Given the description of an element on the screen output the (x, y) to click on. 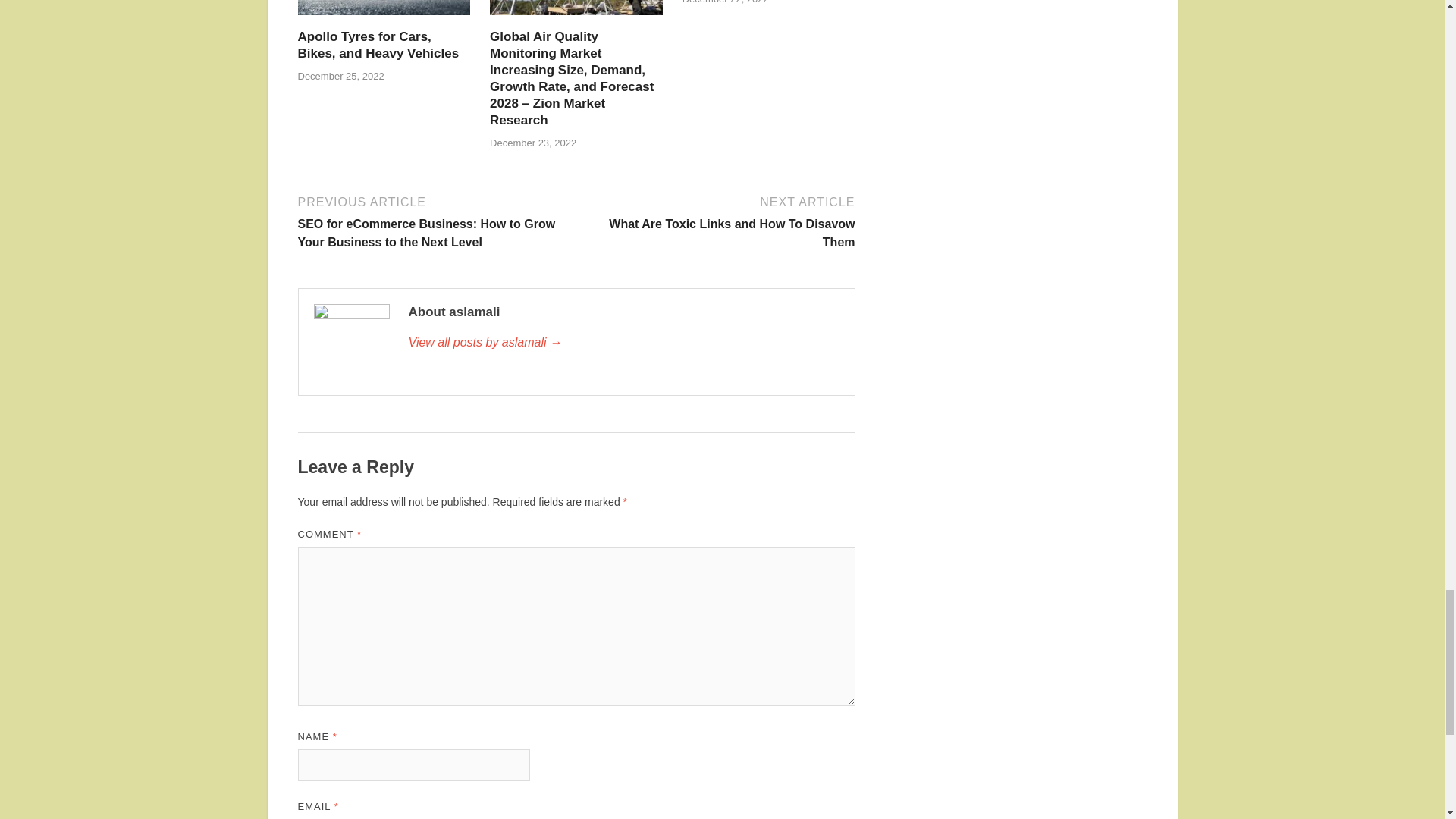
aslamali (622, 342)
Apollo Tyres for Cars, Bikes, and Heavy Vehicles (377, 44)
Apollo Tyres for Cars, Bikes, and Heavy Vehicles (383, 19)
